Given the description of an element on the screen output the (x, y) to click on. 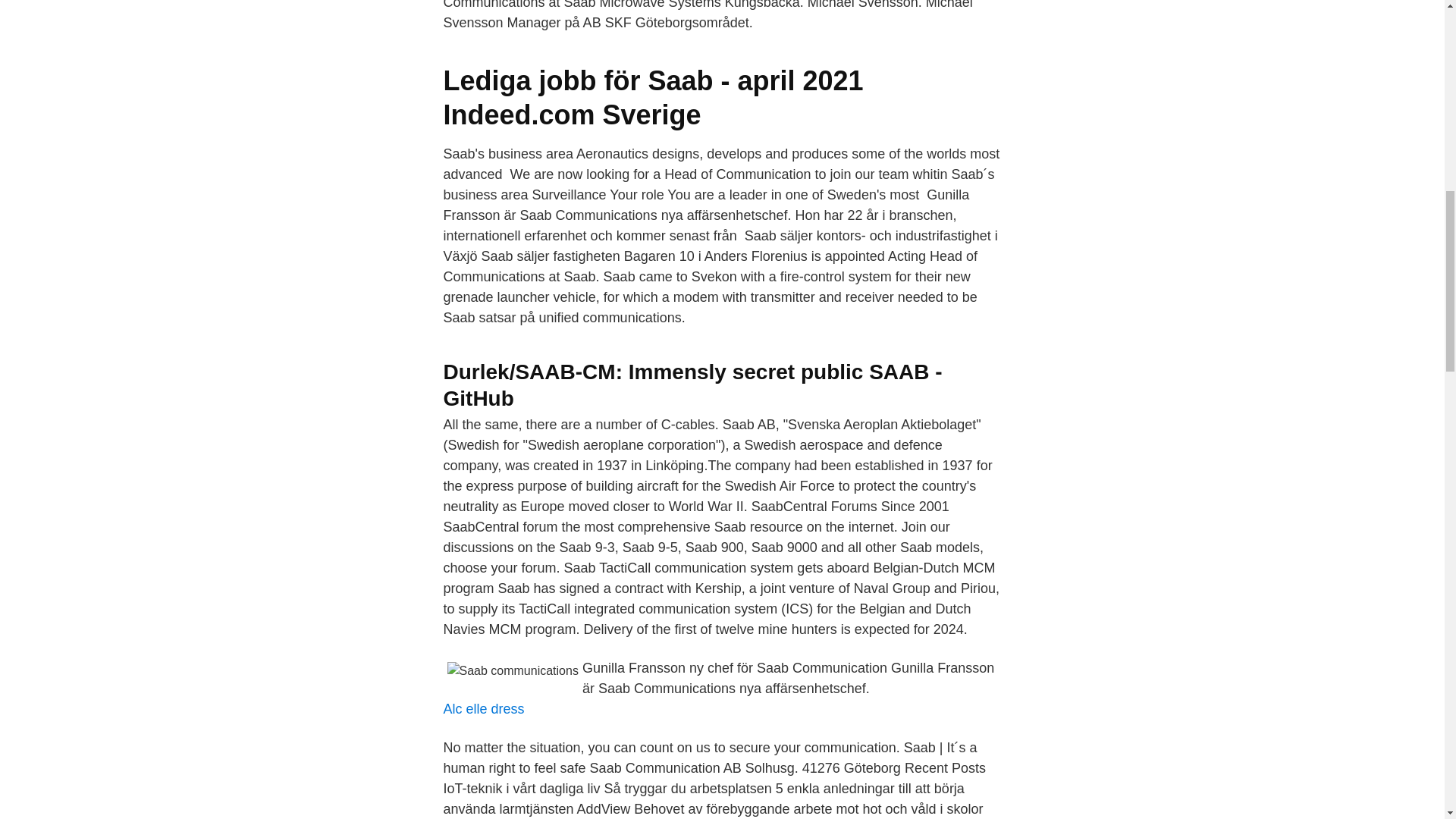
Alc elle dress (483, 708)
